Given the description of an element on the screen output the (x, y) to click on. 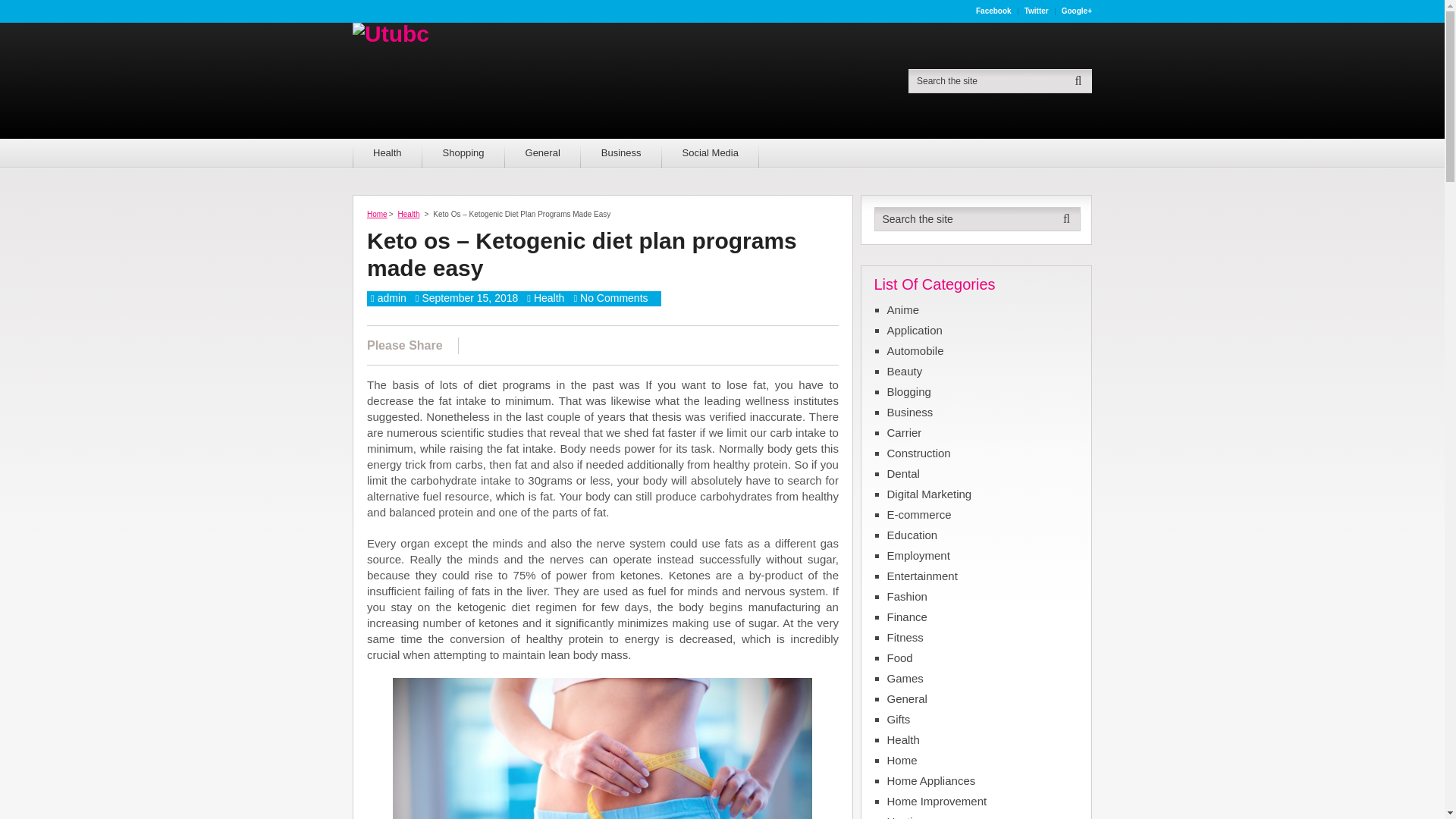
Home (376, 213)
General (542, 152)
Social Media (710, 152)
No Comments (613, 297)
admin (391, 297)
Health (549, 297)
Facebook (993, 11)
Business (621, 152)
Shopping (463, 152)
Health (408, 213)
